Given the description of an element on the screen output the (x, y) to click on. 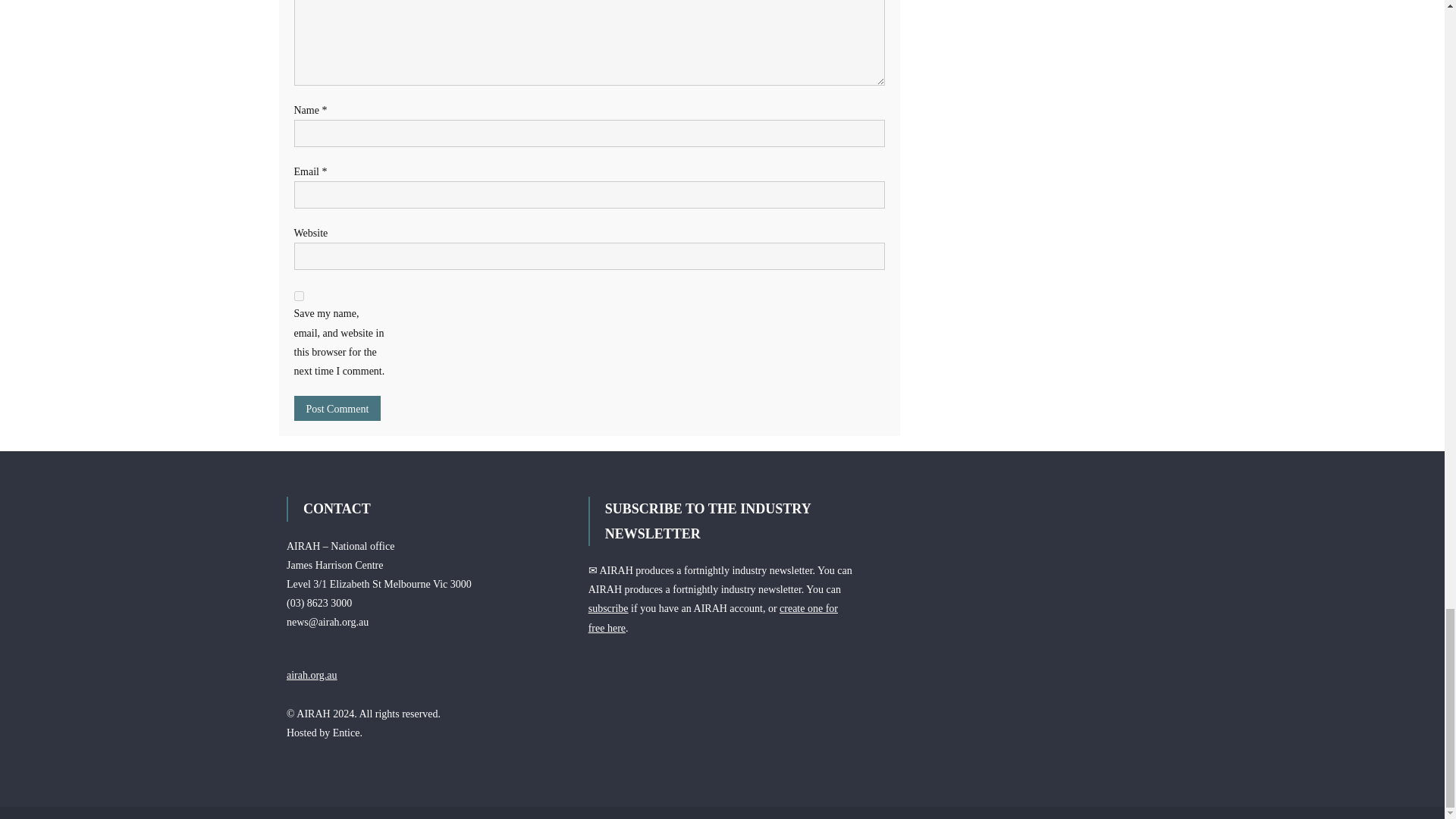
Post Comment (337, 407)
yes (299, 296)
Post Comment (337, 407)
